Given the description of an element on the screen output the (x, y) to click on. 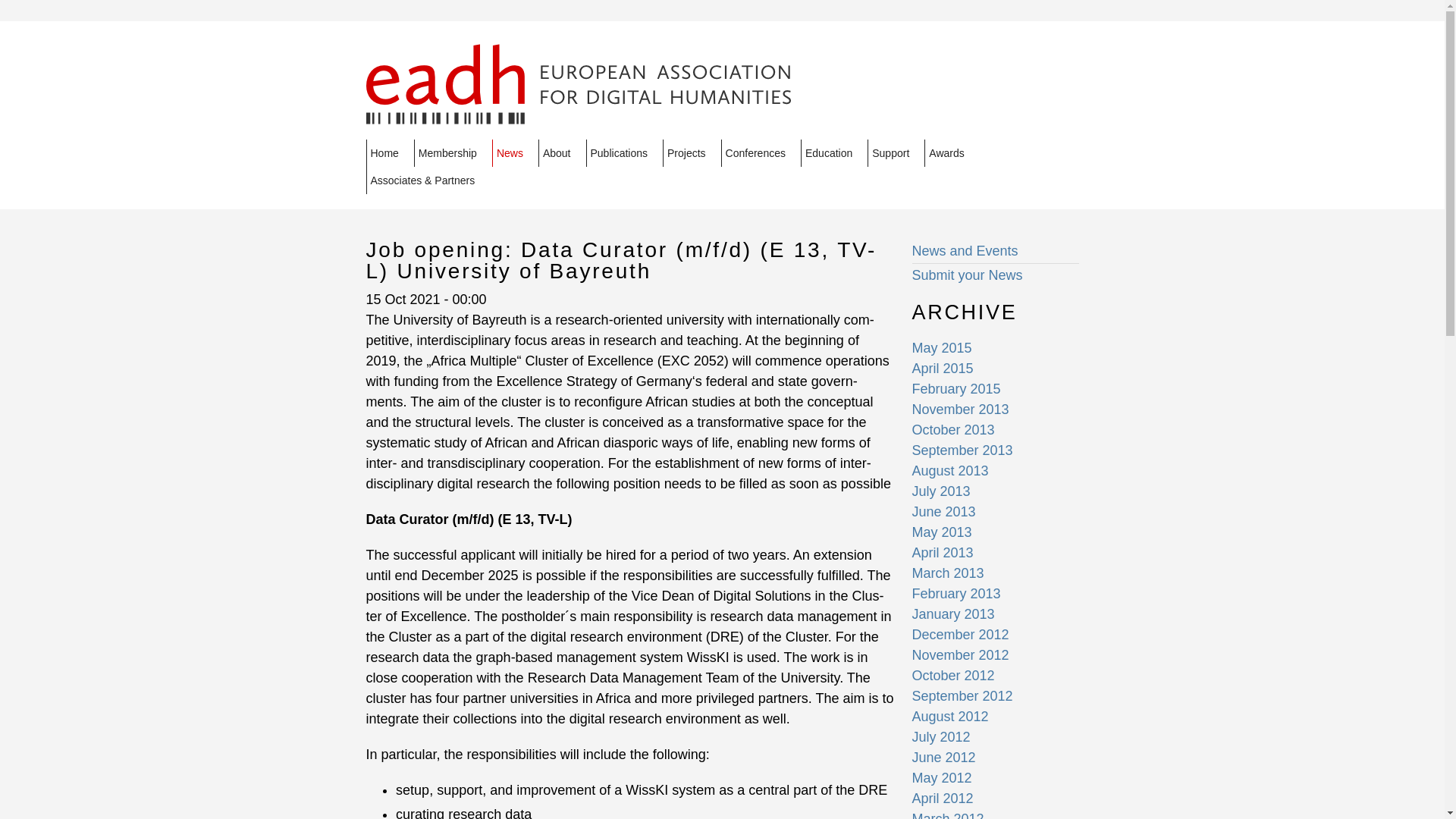
Membership (452, 153)
News (515, 153)
Publications (623, 153)
Home (389, 153)
Education (833, 153)
Support (895, 153)
Skip to main content (680, 22)
April 2015 (941, 368)
February 2015 (955, 388)
November 2013 (960, 409)
